Given the description of an element on the screen output the (x, y) to click on. 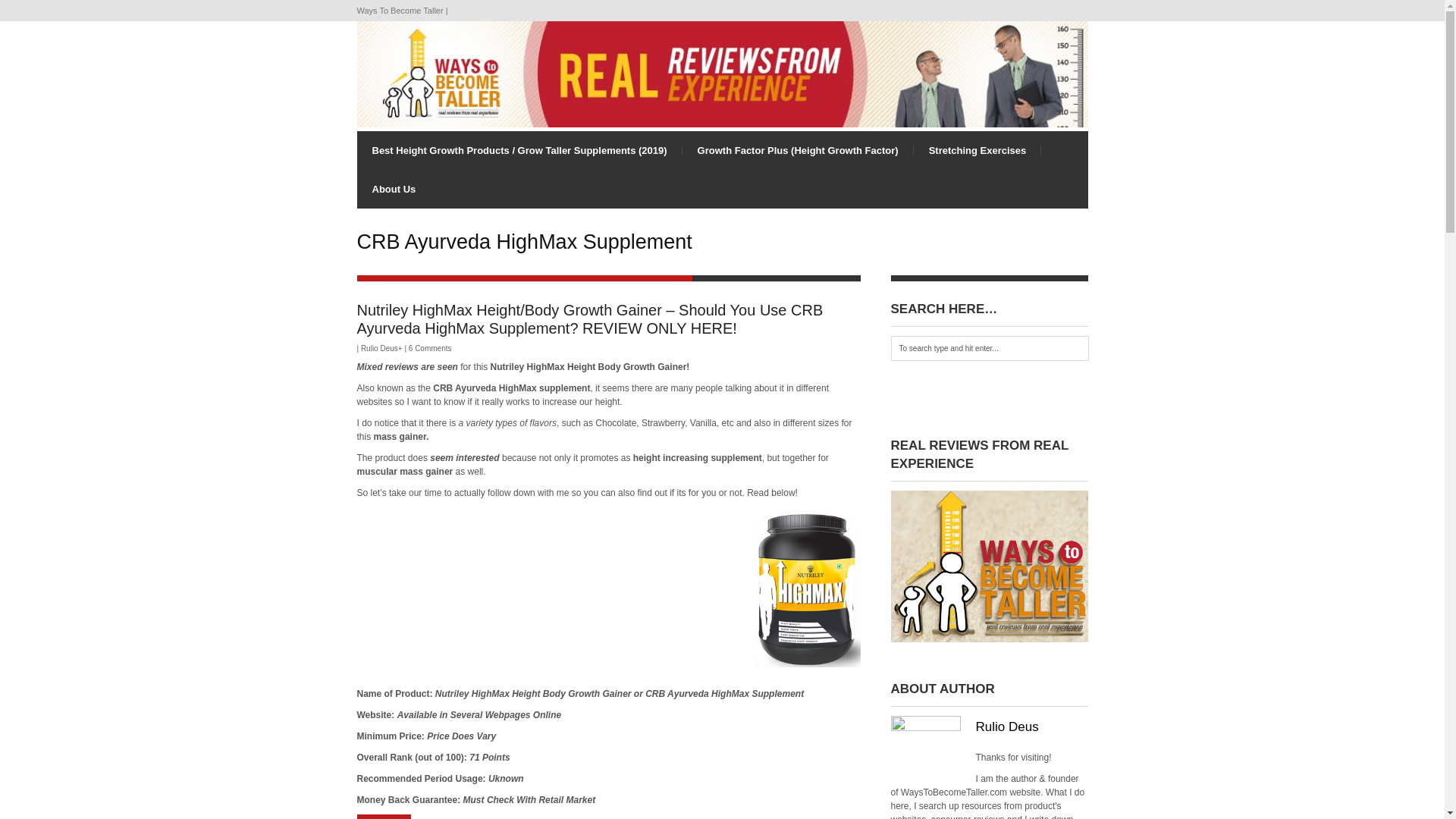
6 Comments (430, 347)
Read More (383, 816)
To search type and hit enter... (988, 348)
Posts by Rulio Deus (379, 347)
Rulio Deus (1006, 726)
About Us (393, 188)
Stretching Exercises (978, 150)
Rulio Deus (379, 347)
